Given the description of an element on the screen output the (x, y) to click on. 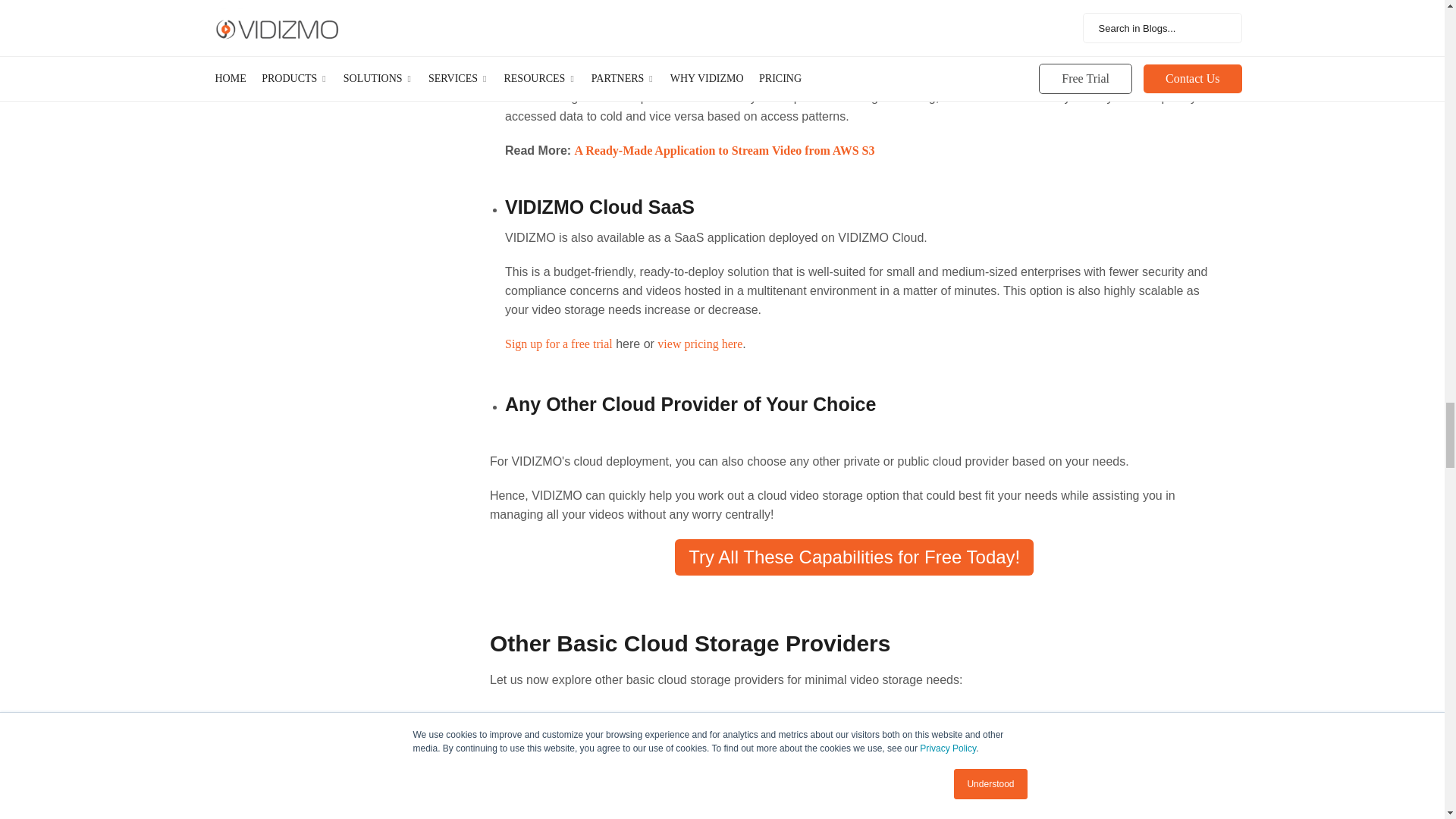
Try All These Capabilities for Free Today! (854, 556)
